Given the description of an element on the screen output the (x, y) to click on. 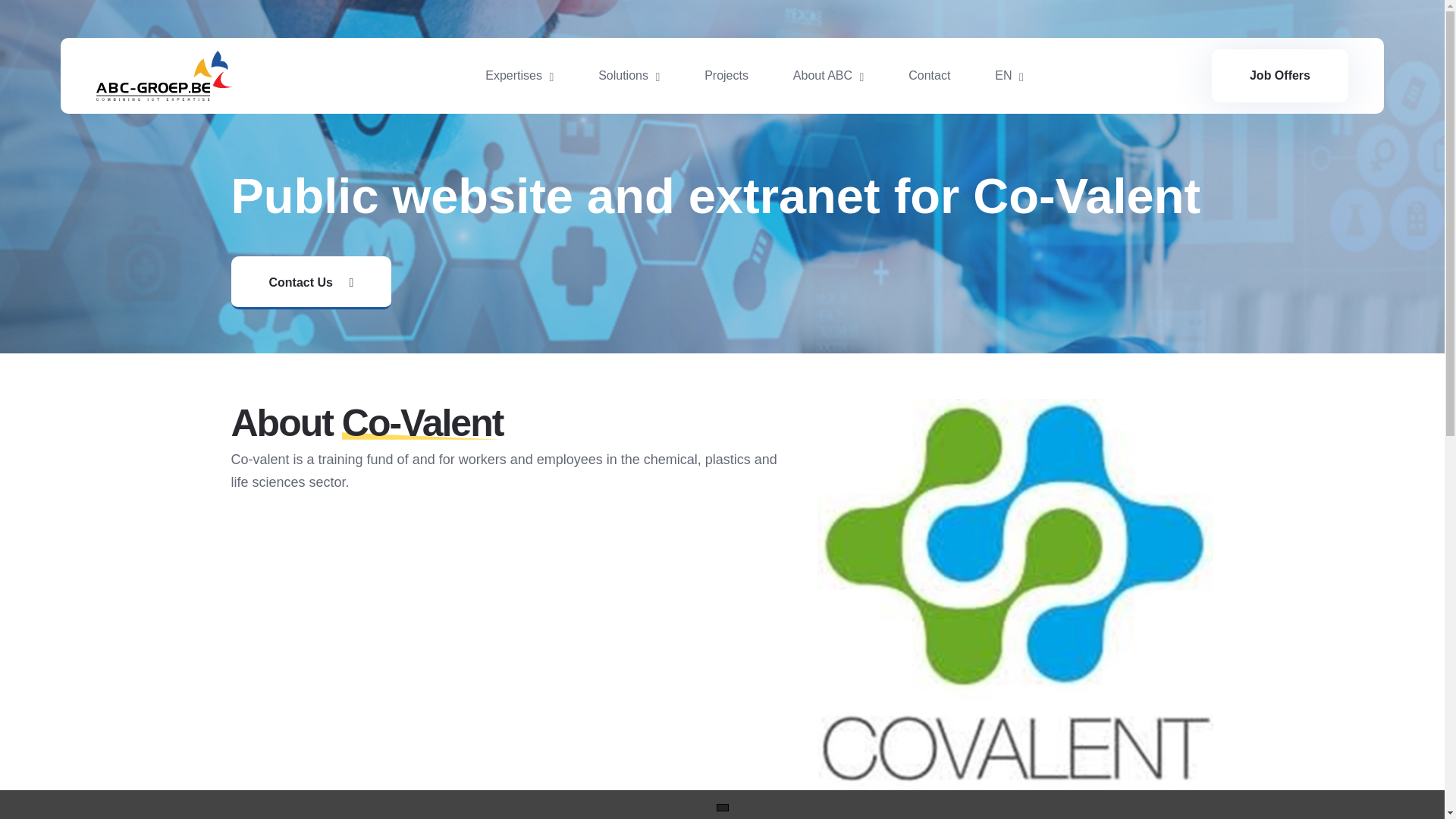
About ABC (828, 75)
Job Offers (1279, 75)
Contact Us (310, 282)
Expertises (518, 75)
